Given the description of an element on the screen output the (x, y) to click on. 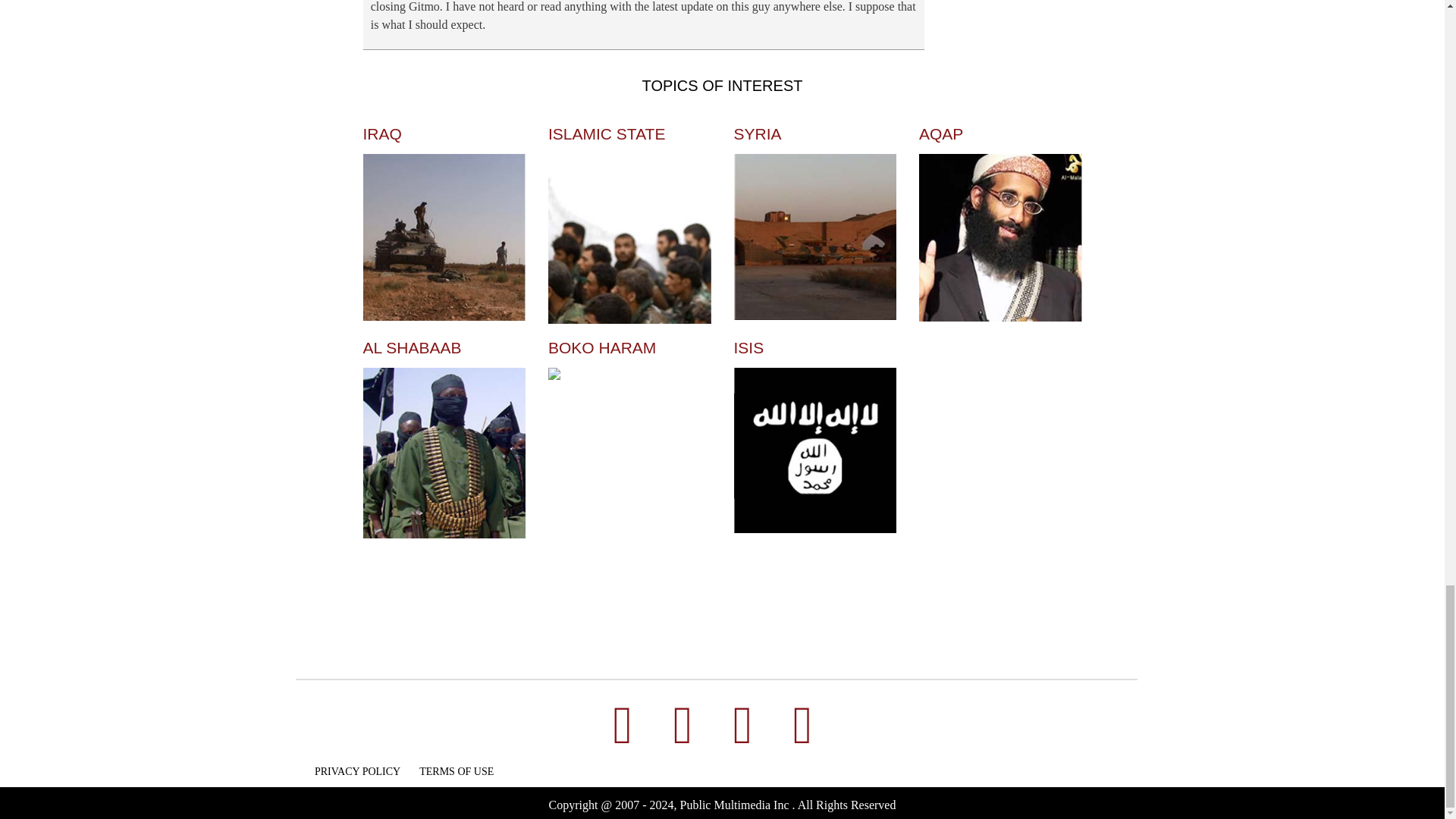
PRIVACY POLICY (357, 771)
